Given the description of an element on the screen output the (x, y) to click on. 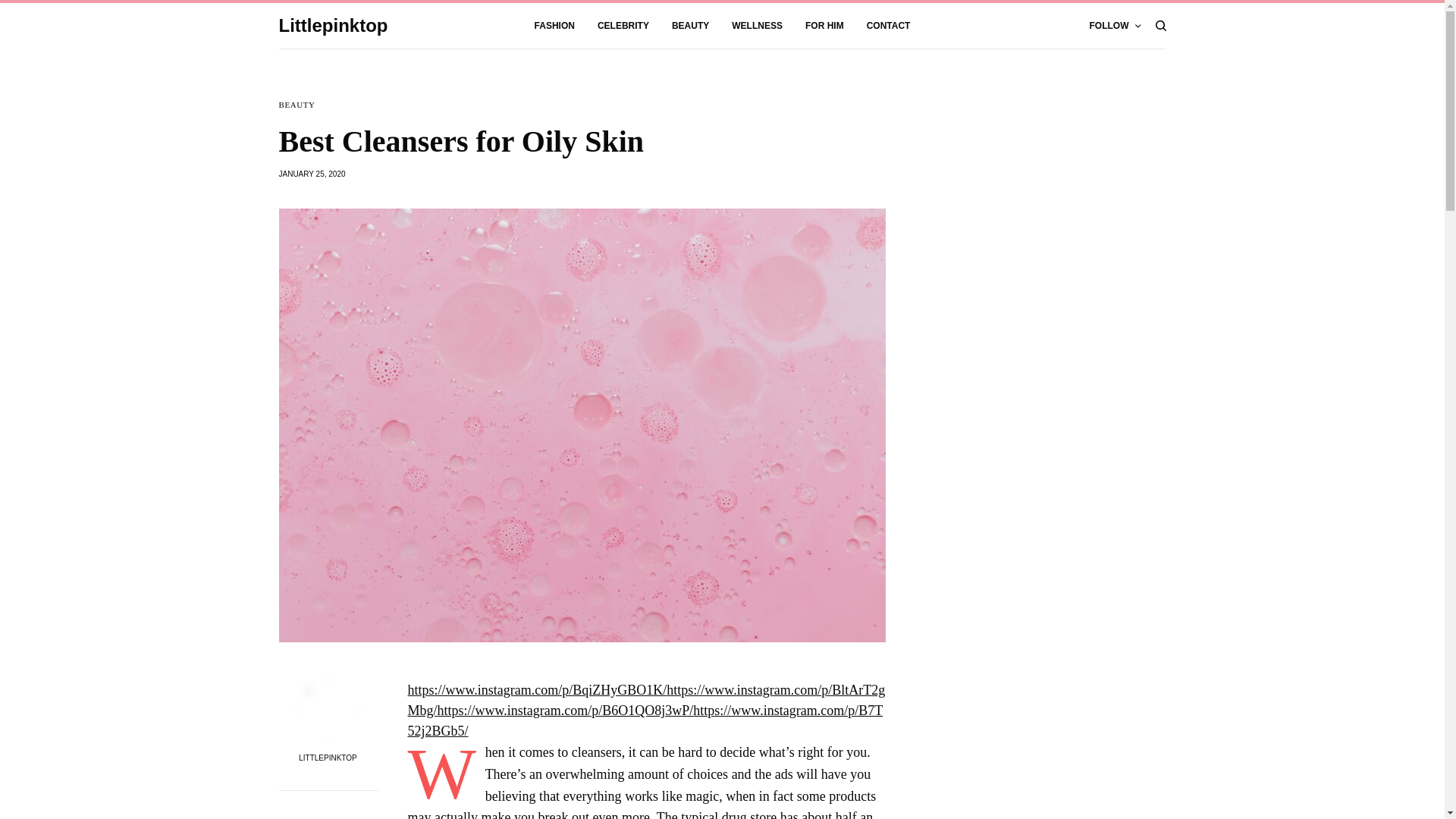
Advertisement (1052, 695)
CELEBRITY (622, 25)
CONTACT (888, 25)
BEAUTY (297, 104)
WELLNESS (757, 25)
FOLLOW (1114, 25)
Littlepinktop (333, 25)
LITTLEPINKTOP (328, 758)
